Given the description of an element on the screen output the (x, y) to click on. 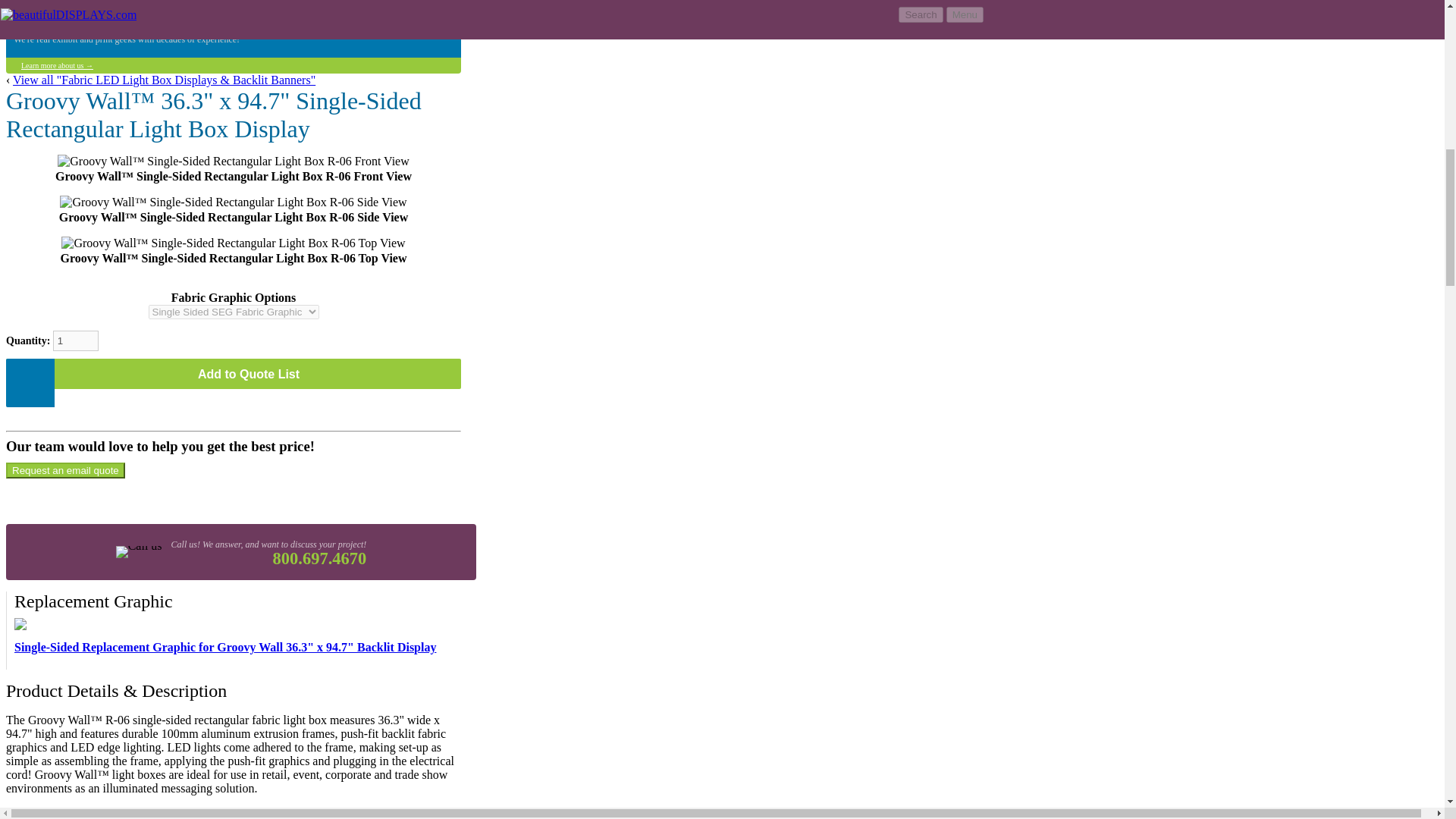
add this item to your email quote request list (233, 373)
Call us (138, 551)
1 (75, 340)
Request an email quote (65, 470)
Add to Quote List (233, 373)
email quote request (65, 470)
